Given the description of an element on the screen output the (x, y) to click on. 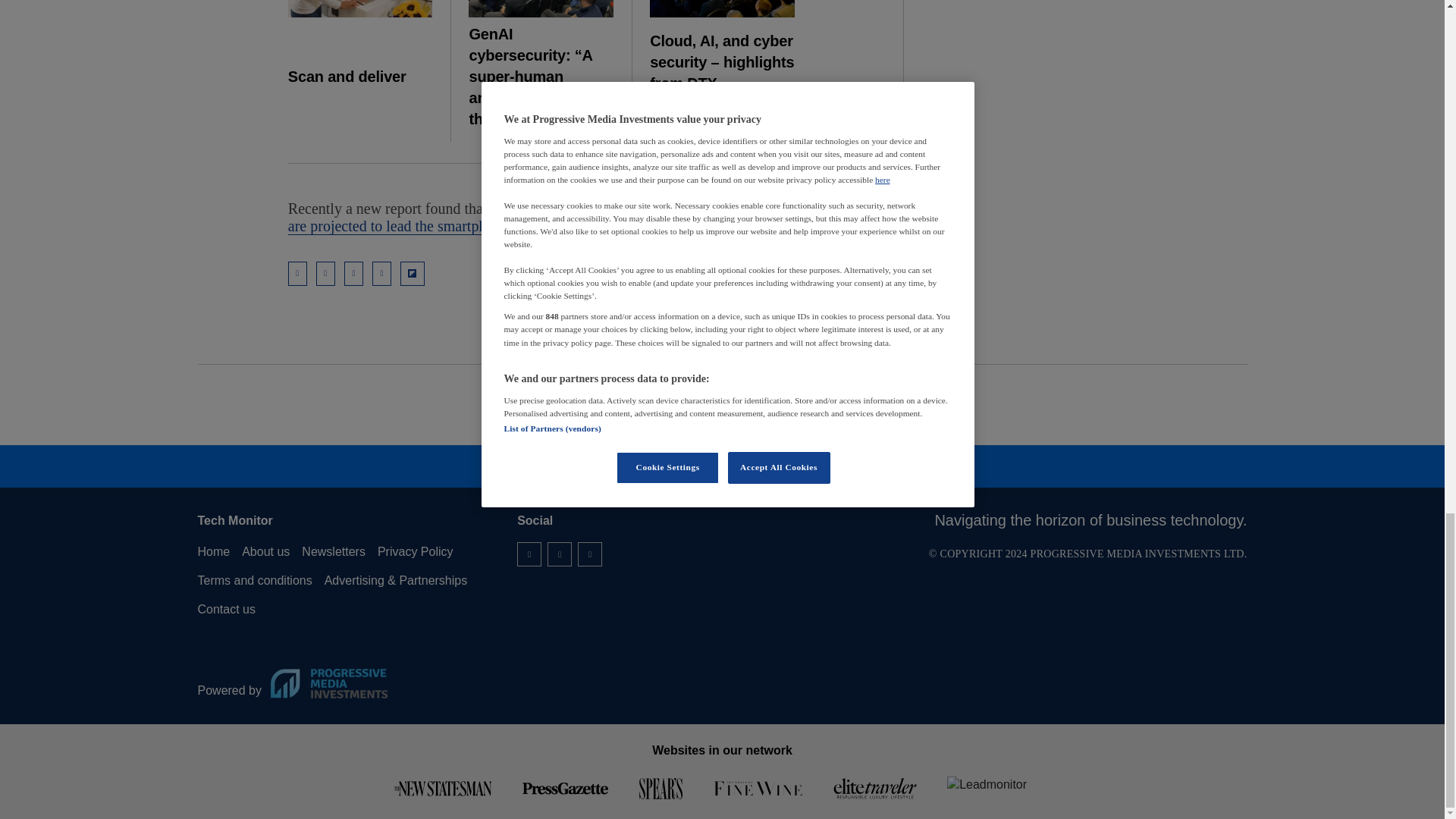
Share on Flipboard (412, 273)
Scan and deliver (360, 8)
